Given the description of an element on the screen output the (x, y) to click on. 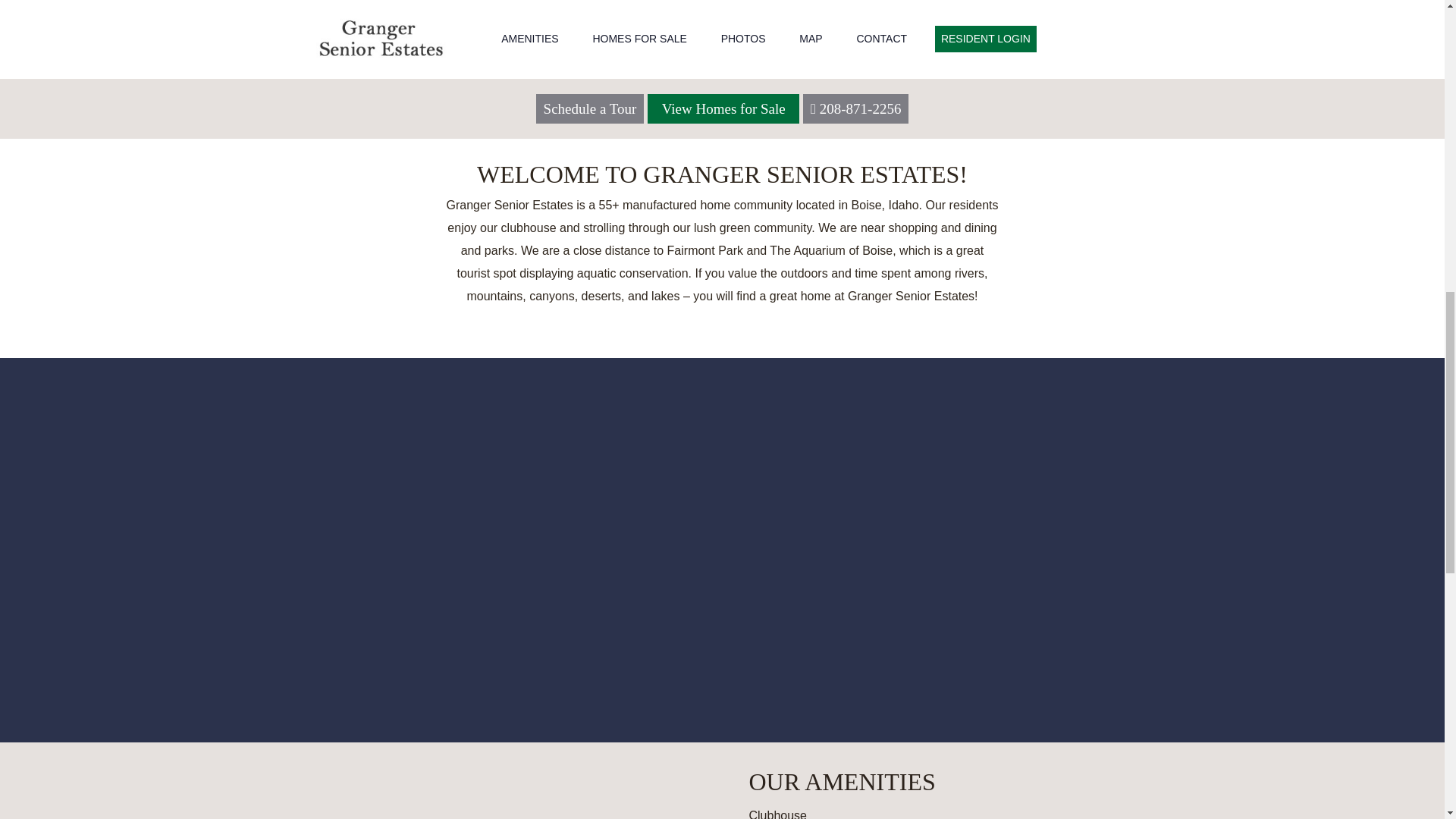
LOCATION (722, 103)
HOMES (433, 103)
PHOTOS (1010, 103)
